Given the description of an element on the screen output the (x, y) to click on. 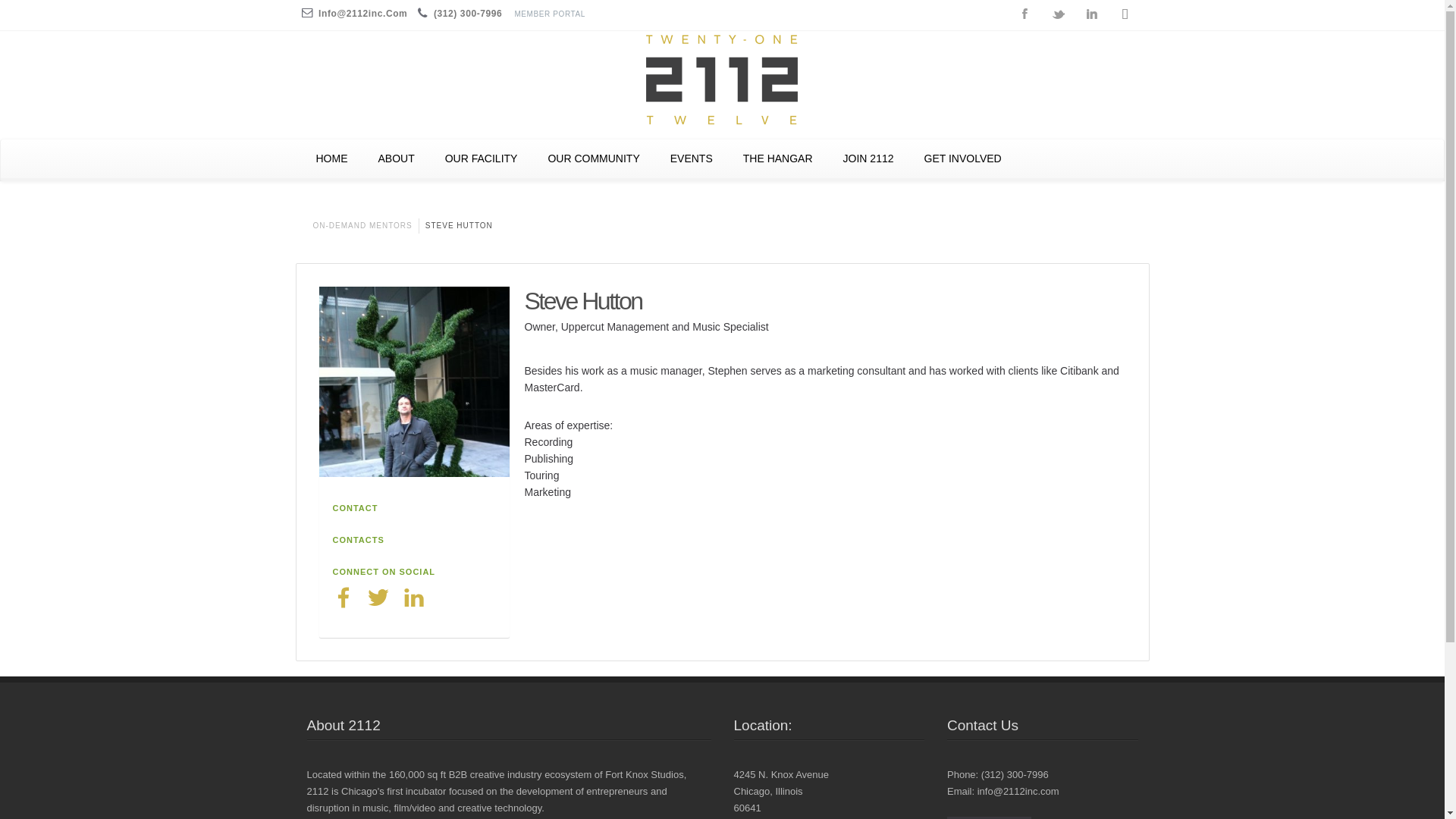
ON-DEMAND MENTORS Element type: text (361, 225)
JOIN 2112 Element type: text (868, 158)
HOME Element type: text (331, 158)
ABOUT Element type: text (395, 158)
THE HANGAR Element type: text (778, 158)
OUR COMMUNITY Element type: text (593, 158)
facebook Element type: hover (342, 596)
GET INVOLVED Element type: text (962, 158)
EVENTS Element type: text (691, 158)
twitter Element type: hover (378, 596)
linkedin Element type: hover (413, 596)
MEMBER PORTAL Element type: text (553, 13)
OUR FACILITY Element type: text (481, 158)
